Given the description of an element on the screen output the (x, y) to click on. 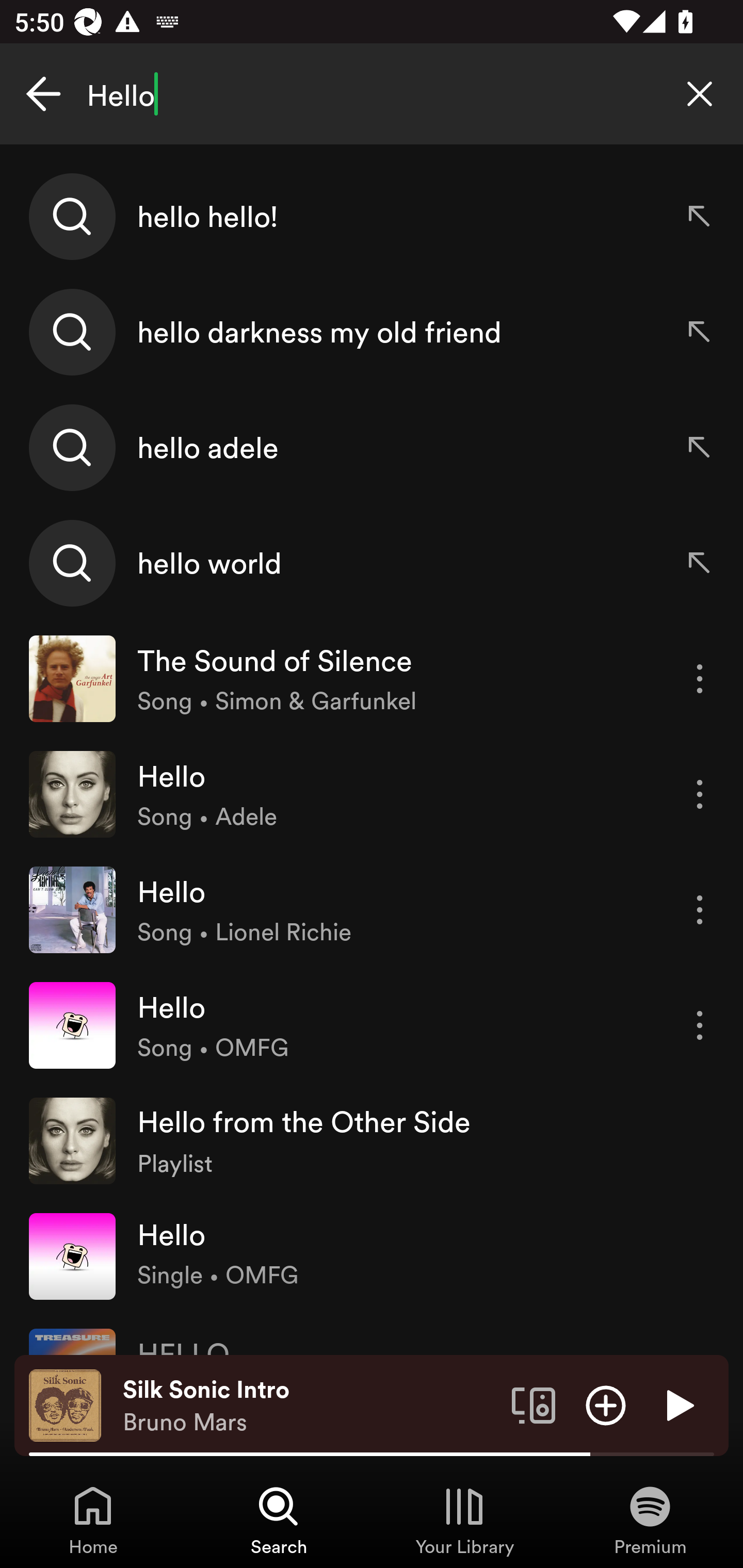
Hello (371, 93)
Cancel (43, 93)
Clear search query (699, 93)
hello hello! (371, 216)
hello darkness my old friend (371, 332)
hello adele (371, 447)
hello world (371, 562)
More options for song The Sound of Silence (699, 678)
Hello Song • Adele More options for song Hello (371, 793)
More options for song Hello (699, 794)
More options for song Hello (699, 910)
Hello Song • OMFG More options for song Hello (371, 1025)
More options for song Hello (699, 1025)
Hello from the Other Side Playlist (371, 1140)
Hello Single • OMFG (371, 1255)
Silk Sonic Intro Bruno Mars (309, 1405)
The cover art of the currently playing track (64, 1404)
Connect to a device. Opens the devices menu (533, 1404)
Add item (605, 1404)
Play (677, 1404)
Home, Tab 1 of 4 Home Home (92, 1519)
Search, Tab 2 of 4 Search Search (278, 1519)
Your Library, Tab 3 of 4 Your Library Your Library (464, 1519)
Premium, Tab 4 of 4 Premium Premium (650, 1519)
